Given the description of an element on the screen output the (x, y) to click on. 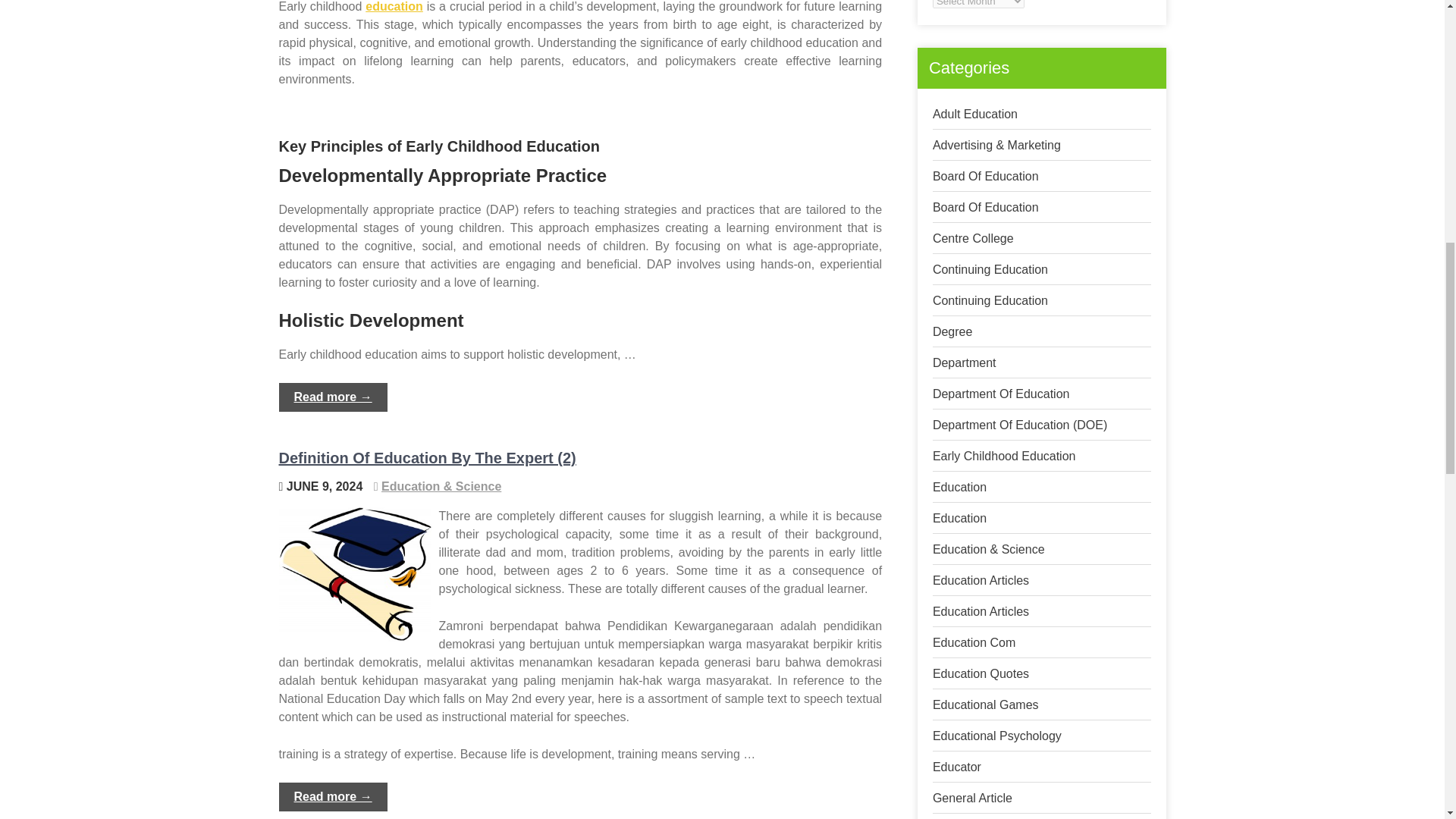
education (394, 6)
